Given the description of an element on the screen output the (x, y) to click on. 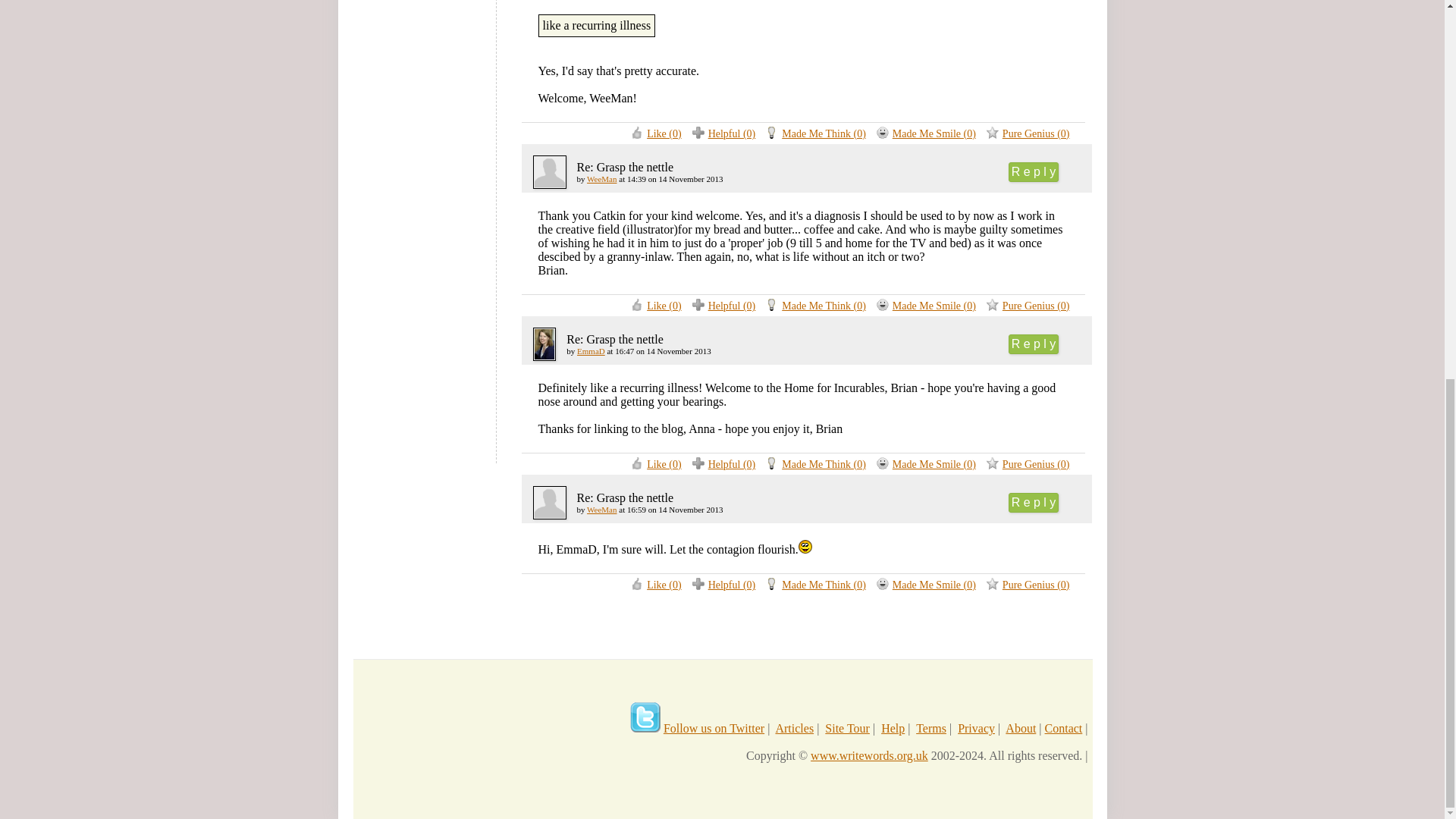
R e p l y (1034, 502)
R e p l y (1034, 171)
R e p l y (1034, 343)
